Given the description of an element on the screen output the (x, y) to click on. 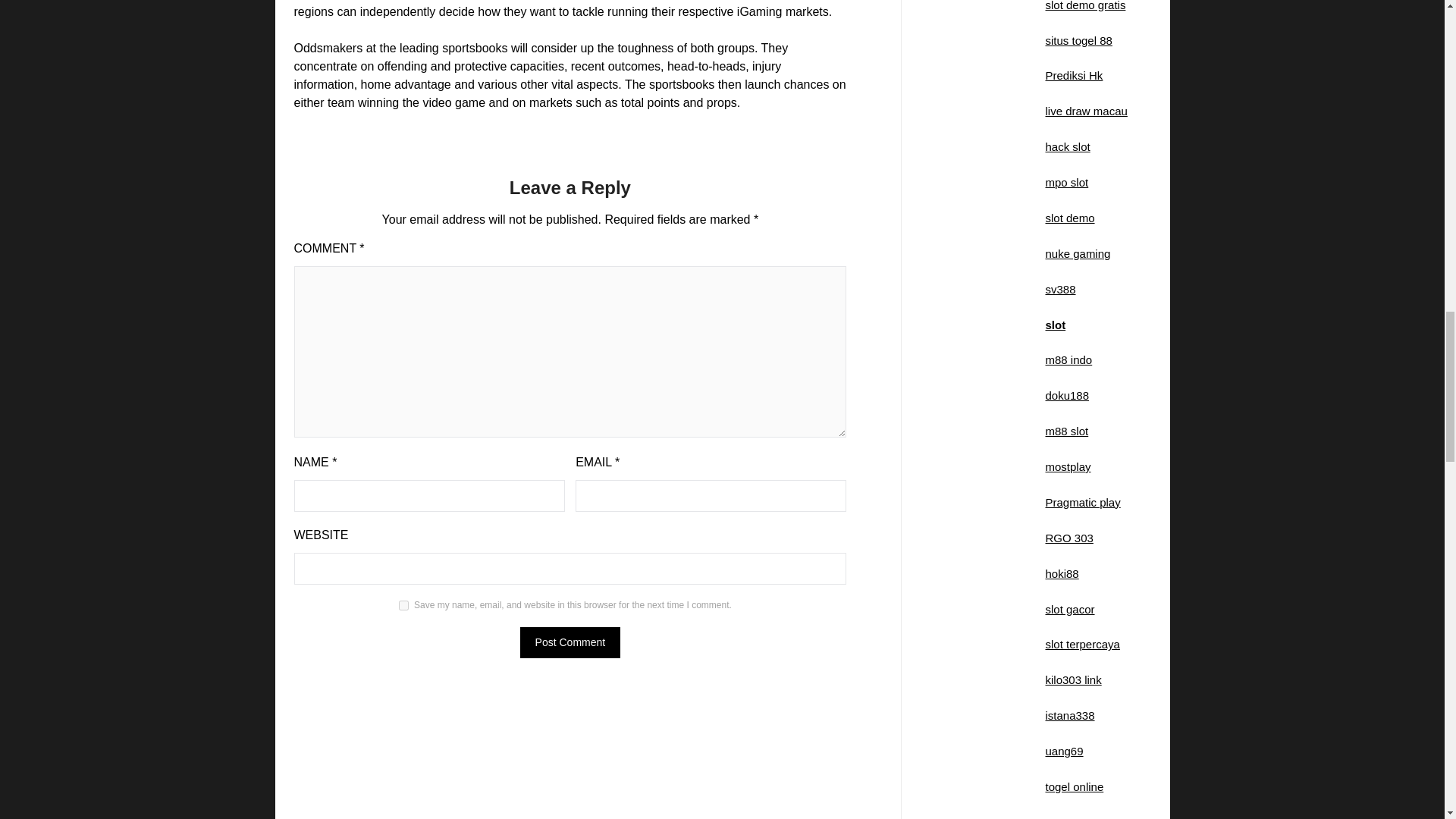
Post Comment (570, 642)
yes (403, 605)
Post Comment (570, 642)
